Given the description of an element on the screen output the (x, y) to click on. 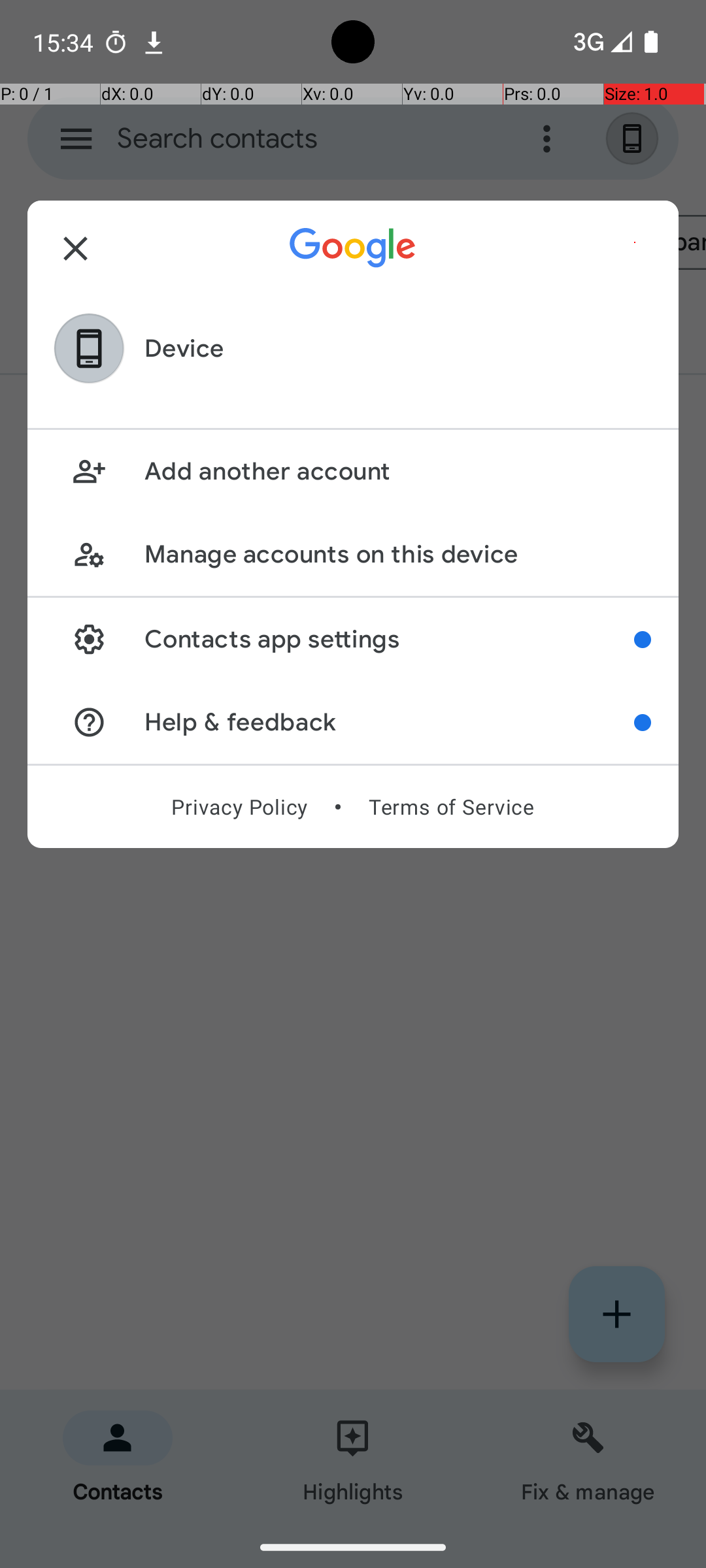
Chrome notification: m.youtube.com Element type: android.widget.ImageView (153, 41)
